Given the description of an element on the screen output the (x, y) to click on. 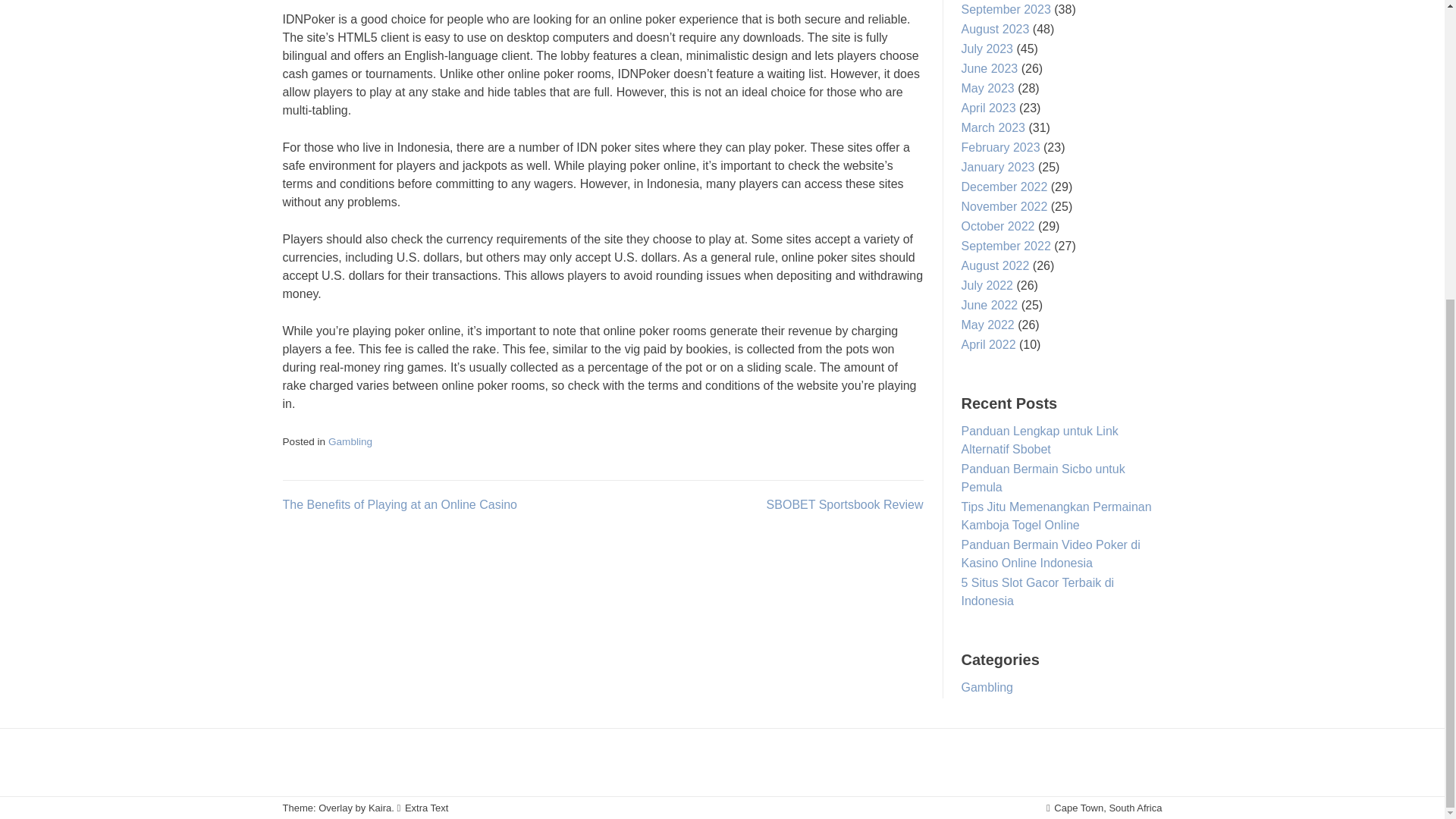
January 2023 (997, 166)
July 2023 (986, 48)
December 2022 (1004, 186)
The Benefits of Playing at an Online Casino (399, 504)
April 2023 (988, 107)
September 2022 (1005, 245)
SBOBET Sportsbook Review (845, 504)
June 2023 (988, 68)
May 2023 (987, 88)
November 2022 (1004, 205)
